Given the description of an element on the screen output the (x, y) to click on. 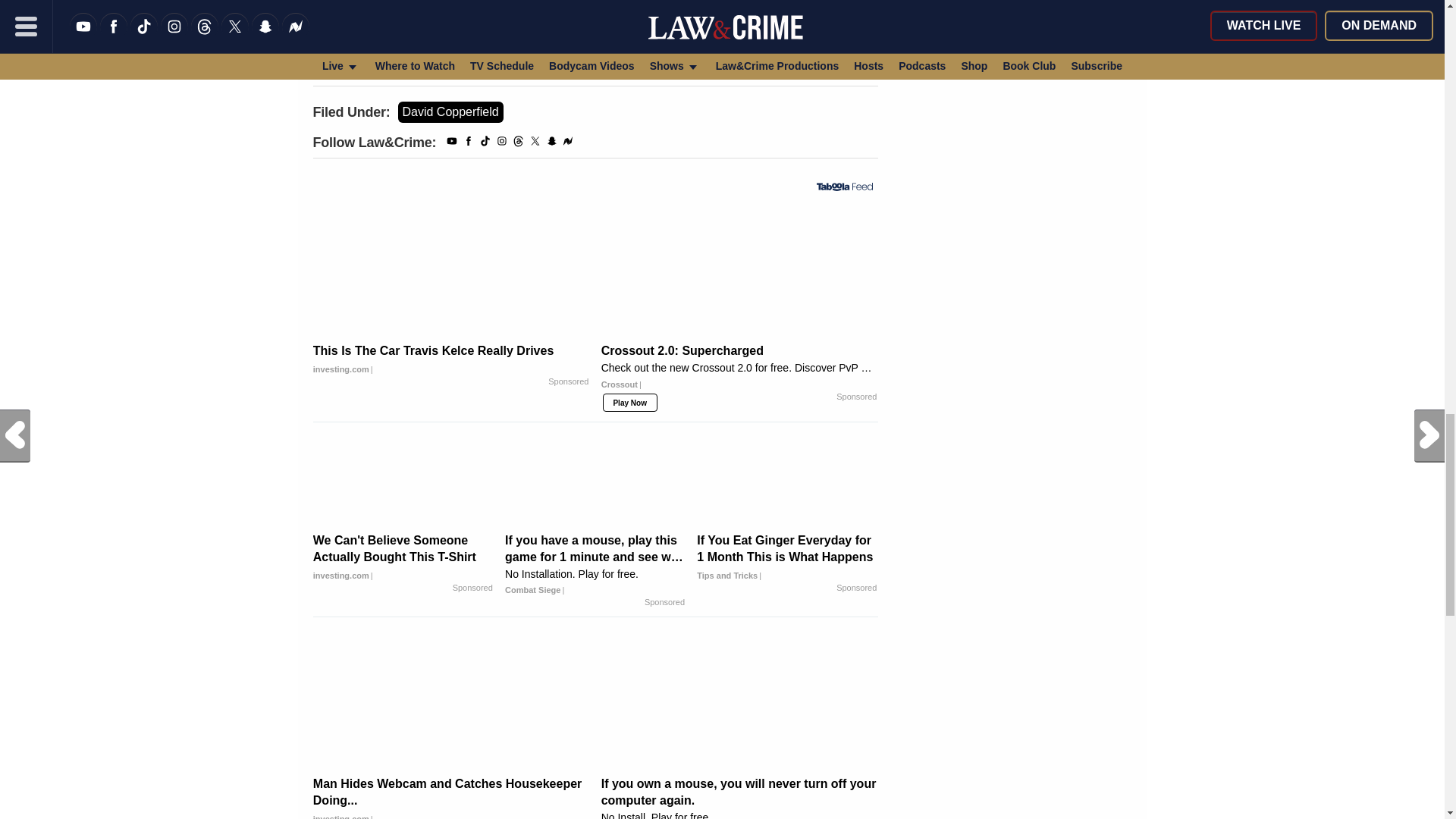
YouTube (451, 143)
